Given the description of an element on the screen output the (x, y) to click on. 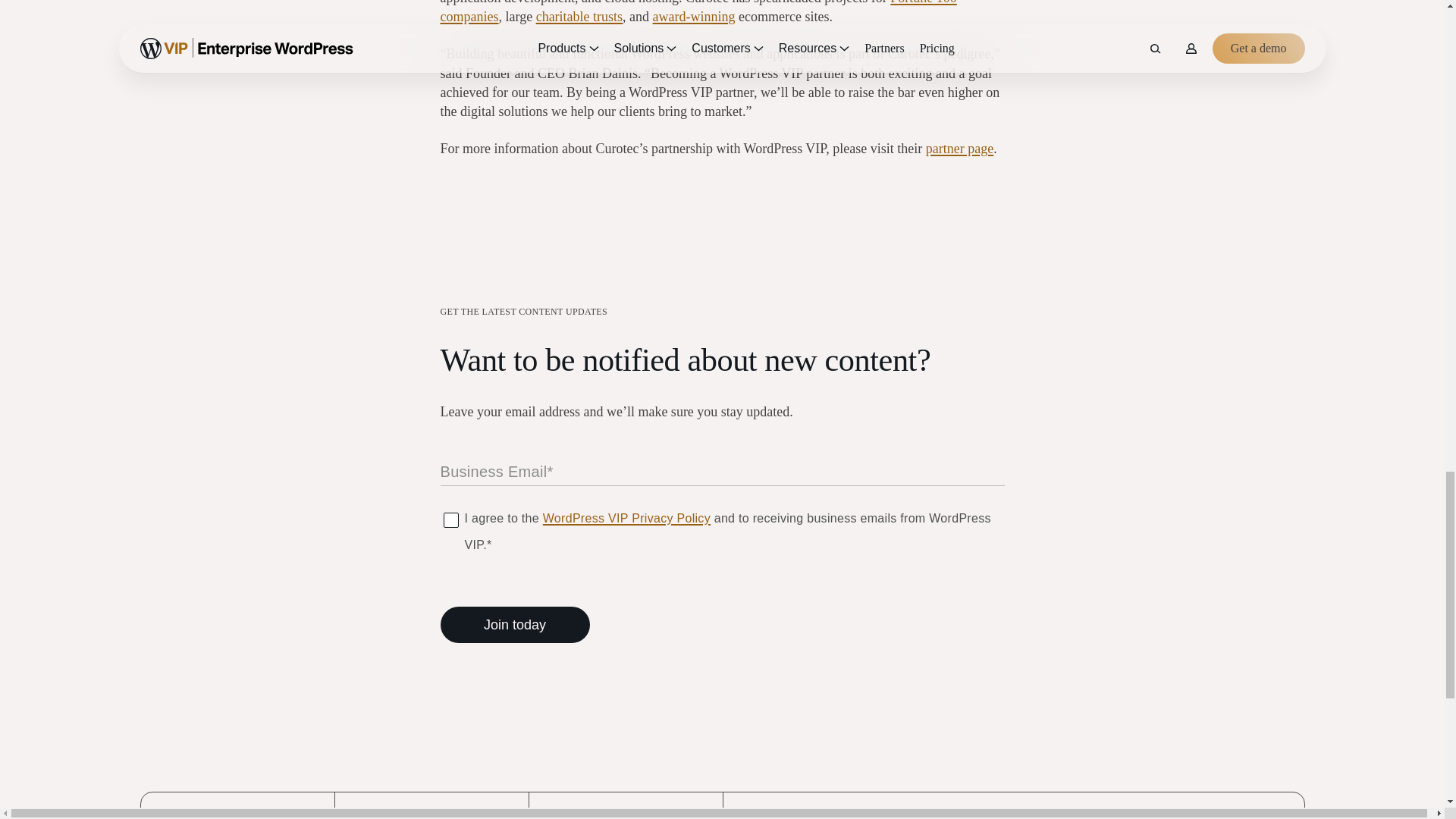
Join today (514, 624)
true (449, 519)
